Given the description of an element on the screen output the (x, y) to click on. 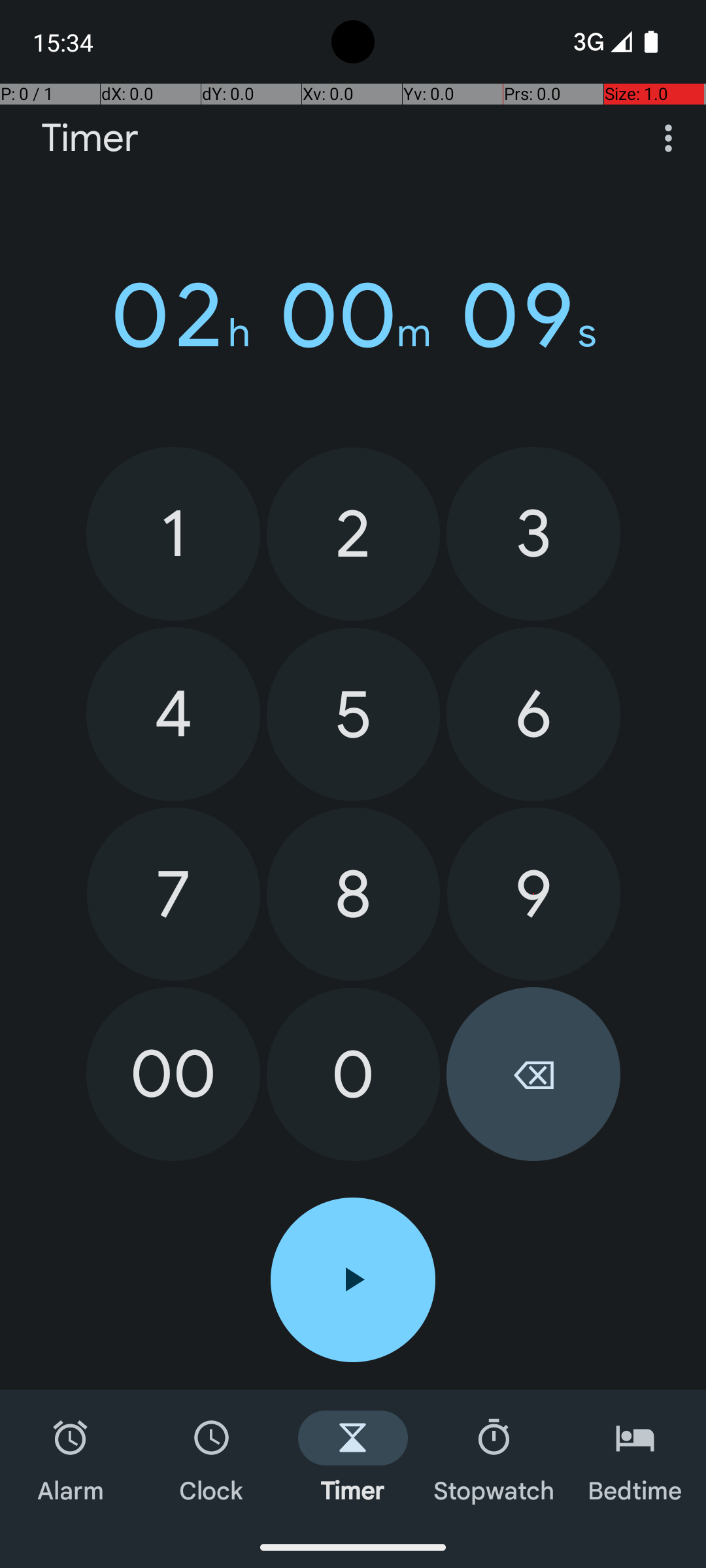
02h 00m 09s Element type: android.widget.TextView (353, 315)
